Given the description of an element on the screen output the (x, y) to click on. 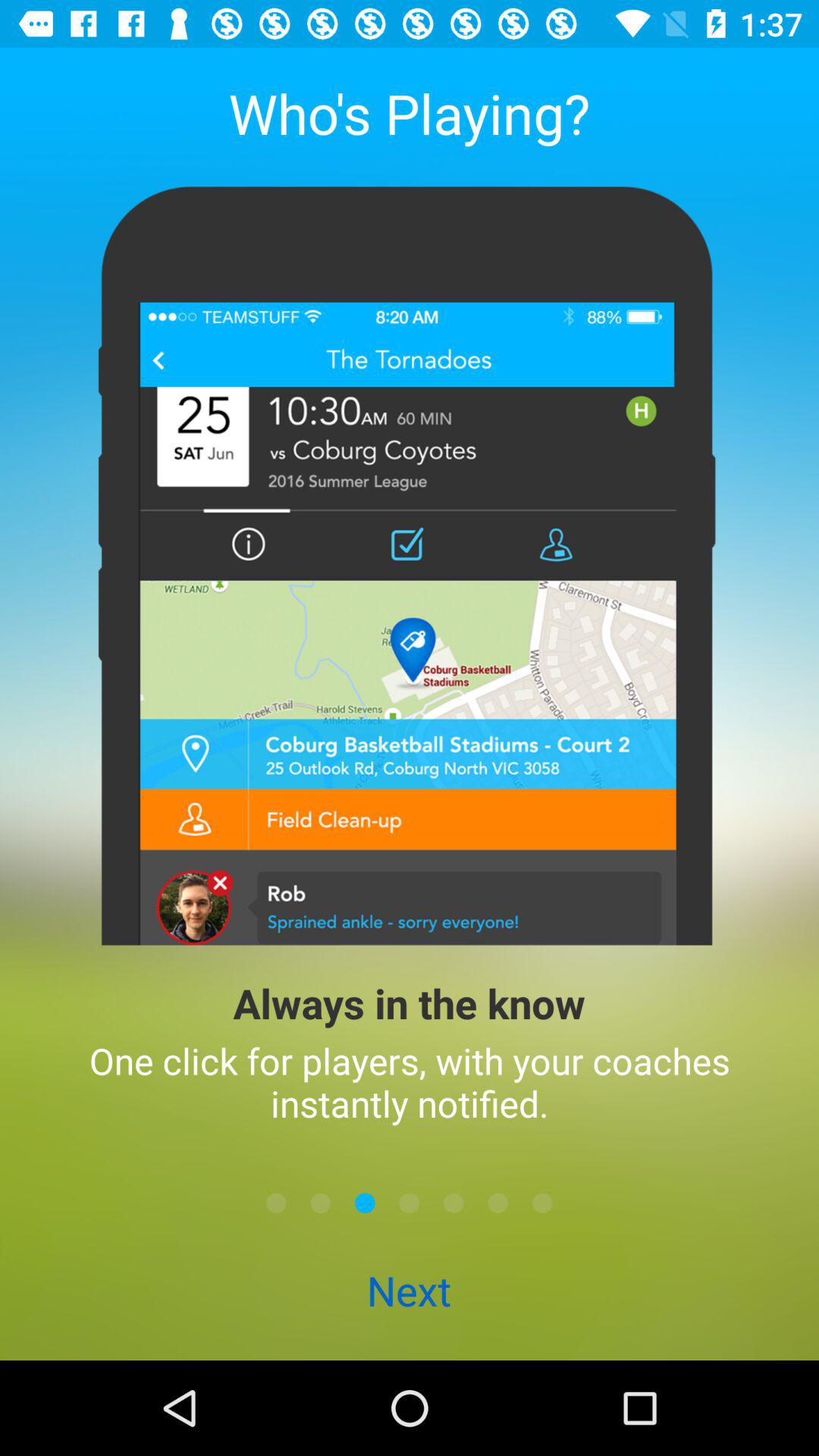
next page (320, 1203)
